Given the description of an element on the screen output the (x, y) to click on. 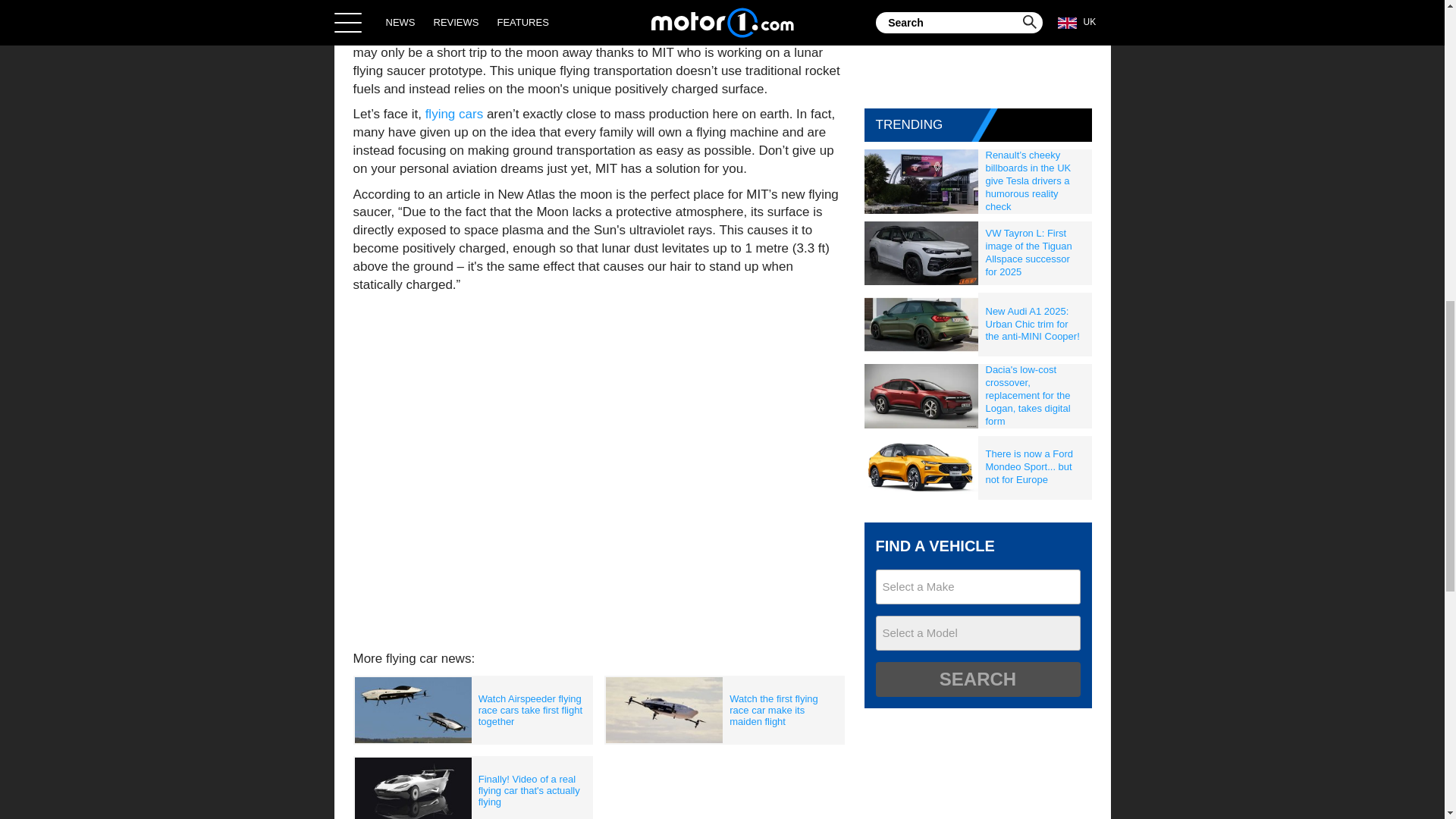
personal flying saucer (660, 34)
flying cars (454, 114)
Search (977, 678)
New Audi A1 2025: Urban Chic trim for the anti-MINI Cooper! (1035, 324)
